Given the description of an element on the screen output the (x, y) to click on. 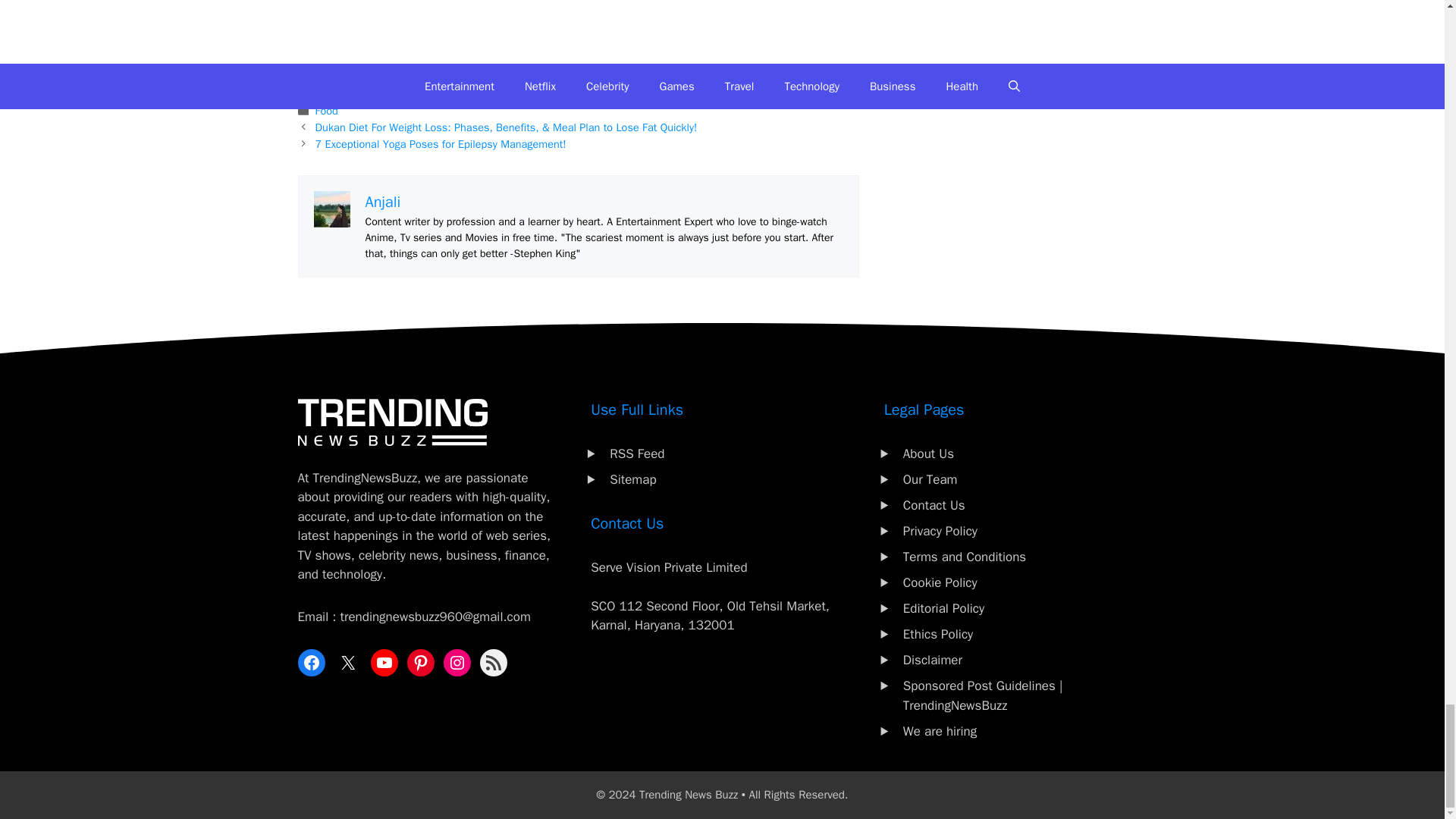
Trendingnewsbuzz-white (391, 421)
Anjali (383, 201)
7 Exceptional Yoga Poses for Epilepsy Management! (440, 143)
Food (326, 110)
